Given the description of an element on the screen output the (x, y) to click on. 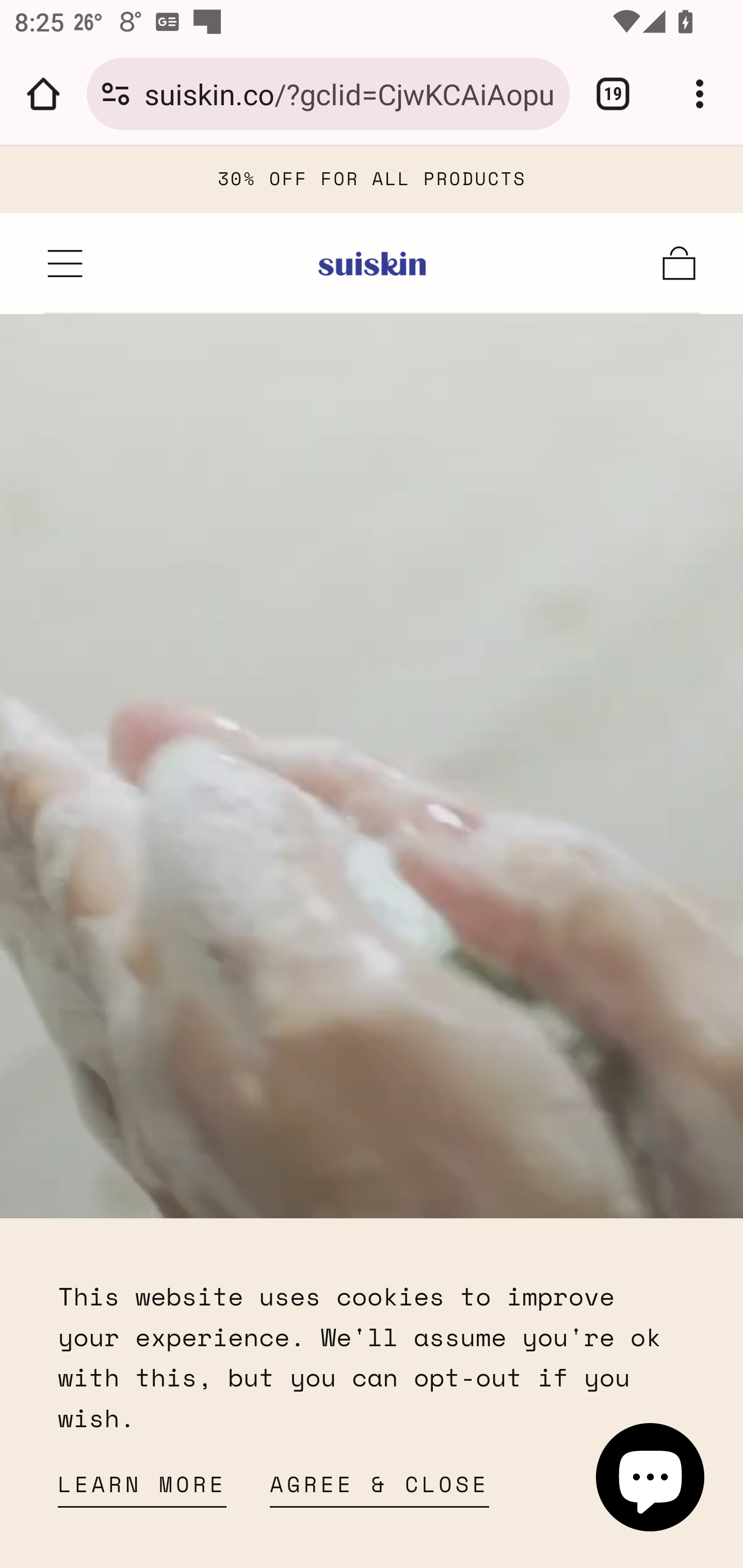
Open the home page (43, 93)
Connection is secure (115, 93)
Switch or close tabs (612, 93)
Customize and control Google Chrome (699, 93)
Toggle menu drawer (65, 263)
Cart (679, 263)
suiskin suiskin suiskin   suiskin (372, 262)
Chat window (650, 1476)
LEARN MORE (142, 1489)
AGREE & CLOSE (379, 1489)
